Given the description of an element on the screen output the (x, y) to click on. 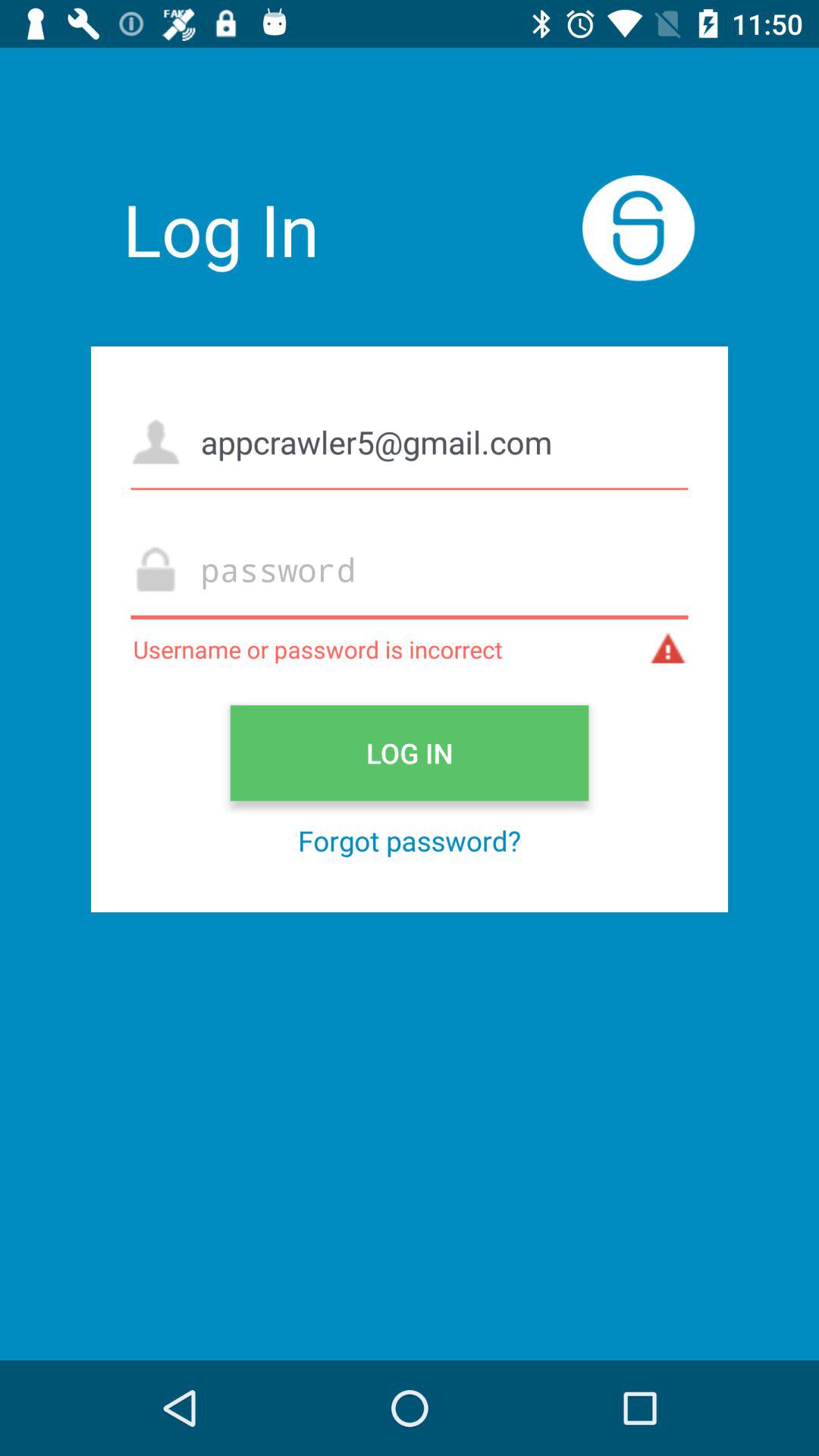
fill in password (409, 569)
